Given the description of an element on the screen output the (x, y) to click on. 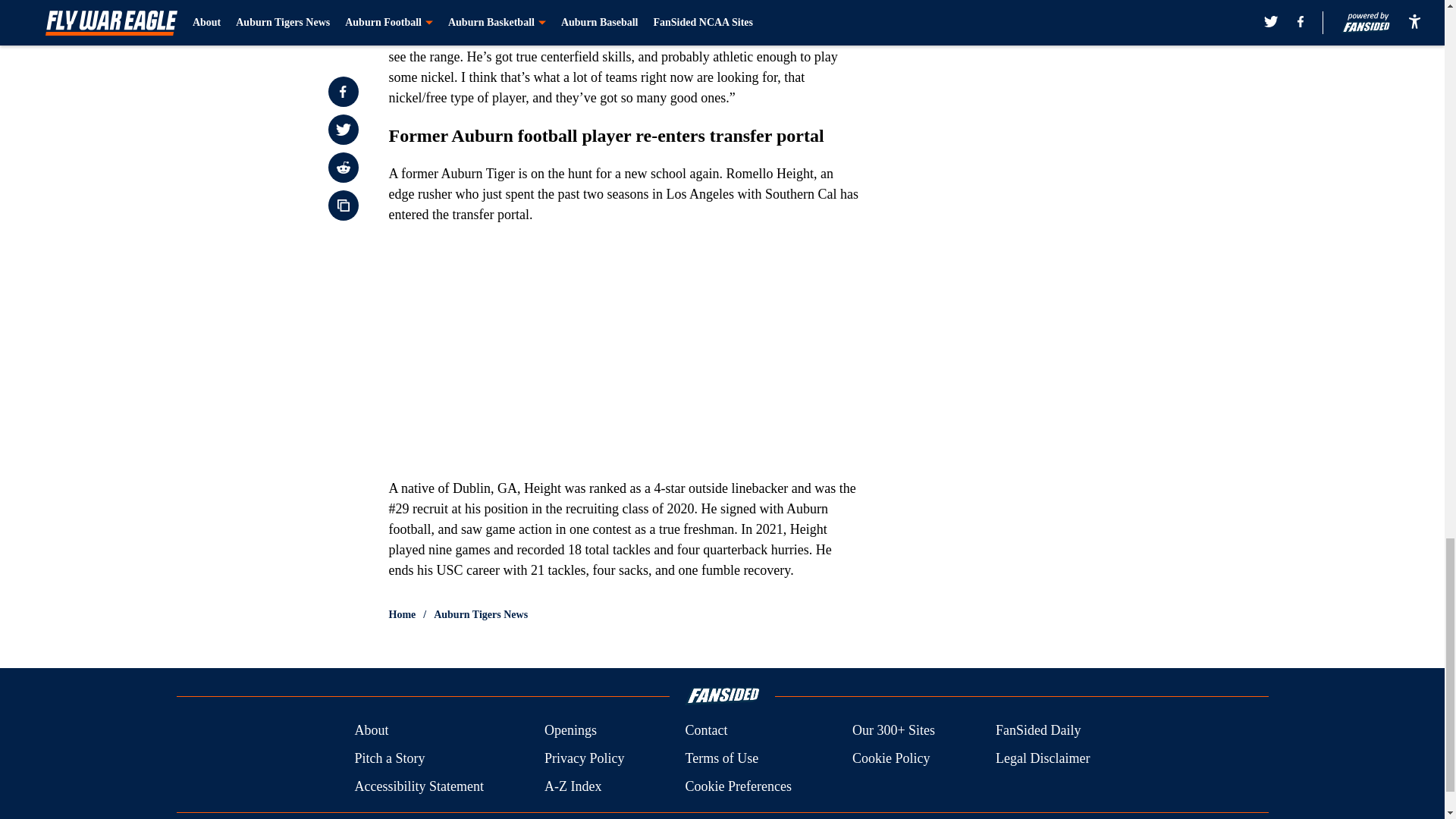
FanSided Daily (1038, 730)
Home (401, 614)
About (370, 730)
Terms of Use (721, 758)
Pitch a Story (389, 758)
Auburn Tigers News (480, 614)
Contact (705, 730)
Legal Disclaimer (1042, 758)
Privacy Policy (584, 758)
Openings (570, 730)
